Given the description of an element on the screen output the (x, y) to click on. 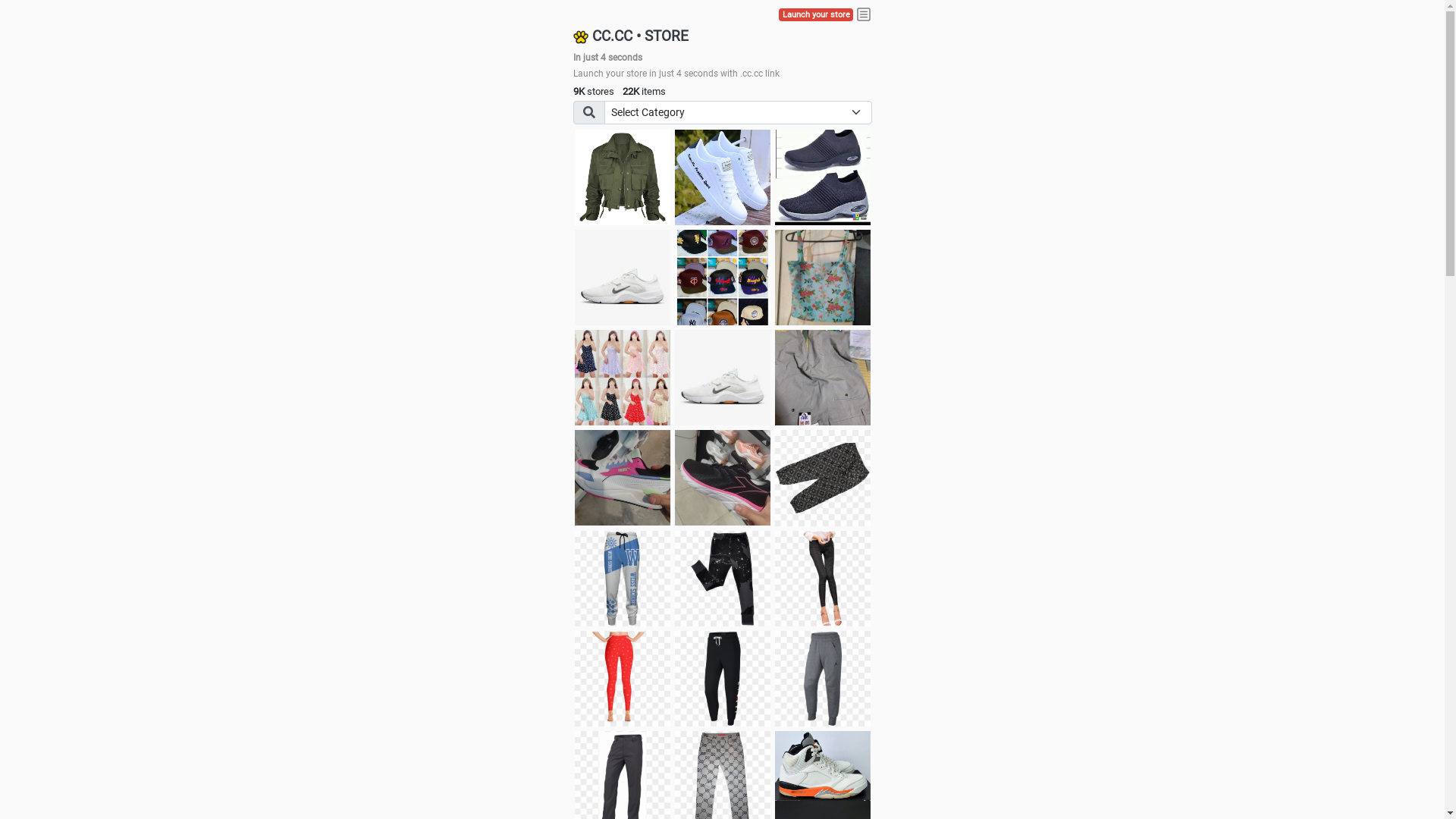
Pant Element type: hover (722, 578)
Pant Element type: hover (822, 578)
Pant Element type: hover (622, 678)
Zapatillas Element type: hover (722, 477)
Short pant Element type: hover (822, 477)
white shoes Element type: hover (722, 177)
Ukay cloth Element type: hover (822, 277)
Shoes Element type: hover (722, 377)
Things we need Element type: hover (722, 277)
jacket Element type: hover (622, 177)
Pant Element type: hover (822, 678)
Launch your store Element type: text (815, 14)
Zapatillas pumas Element type: hover (622, 477)
Pant Element type: hover (622, 578)
Pant Element type: hover (722, 678)
shoes for boys Element type: hover (822, 177)
Dress/square nect top Element type: hover (622, 377)
Shoes for boys Element type: hover (622, 277)
